Given the description of an element on the screen output the (x, y) to click on. 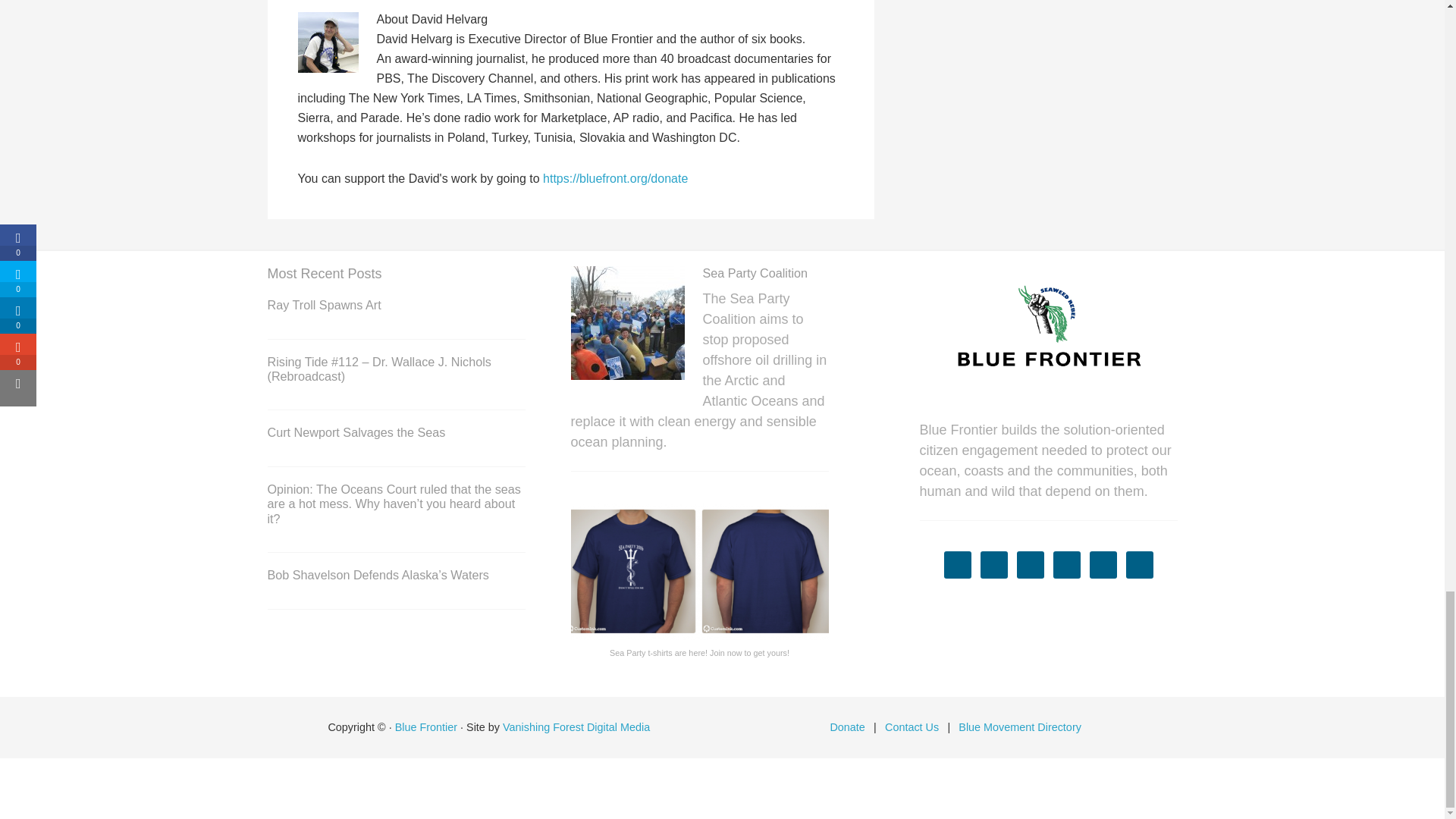
About Us (1047, 334)
Sea Party Coalition (754, 273)
Vanishing Forest Digital Media (575, 727)
Sea Party Coalition (627, 325)
